Given the description of an element on the screen output the (x, y) to click on. 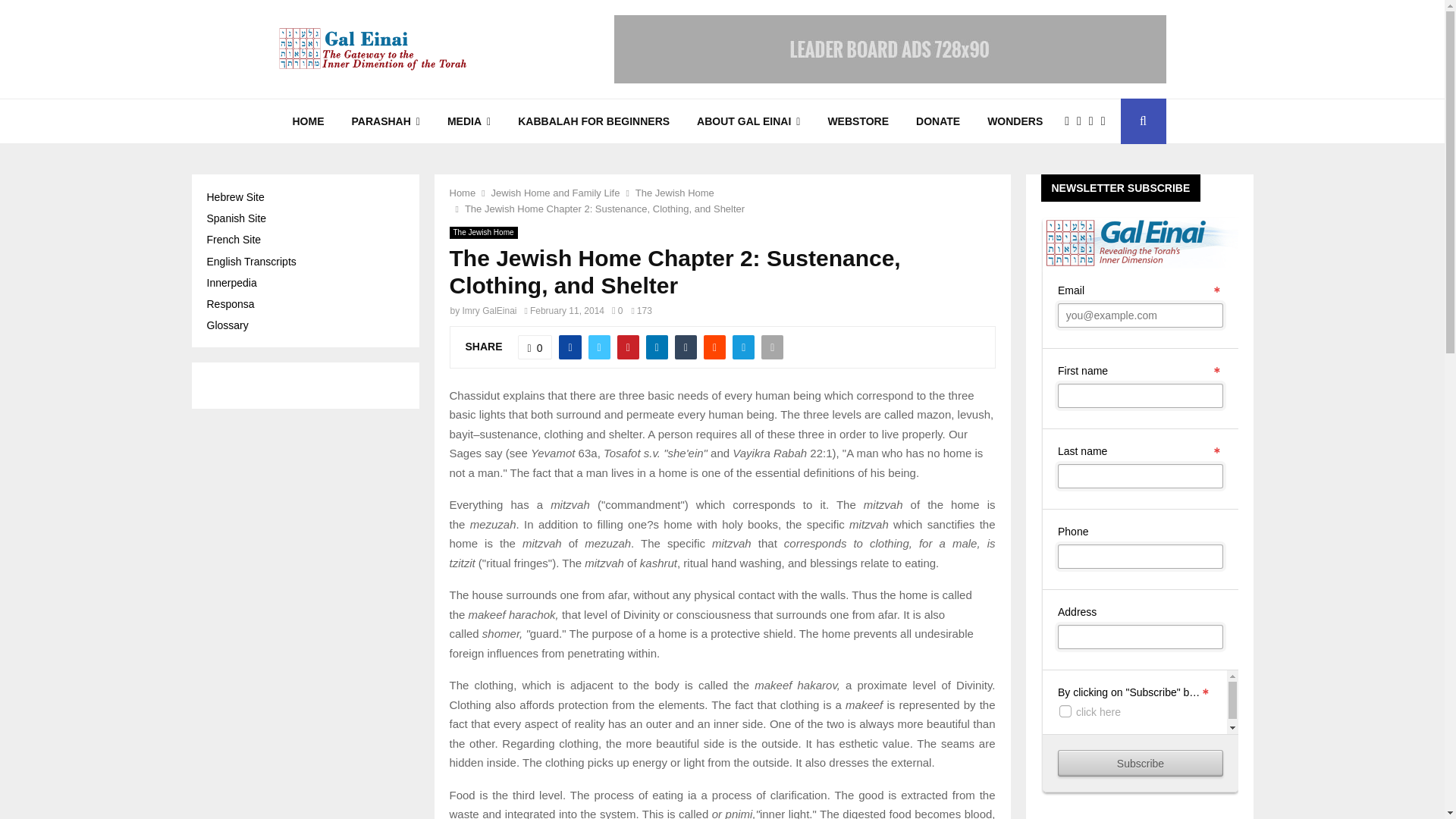
HOME (308, 121)
WONDERS (1015, 121)
MEDIA (468, 121)
DONATE (938, 121)
The Jewish Home (482, 232)
PARASHAH (385, 121)
The Jewish Home Chapter 2: Sustenance, Clothing, and Shelter (604, 208)
Like (535, 346)
0 (617, 310)
Jewish Home and Family Life (556, 193)
KABBALAH FOR BEGINNERS (592, 121)
The Jewish Home (674, 193)
Imry GalEinai (489, 310)
0 (535, 346)
WEBSTORE (857, 121)
